Given the description of an element on the screen output the (x, y) to click on. 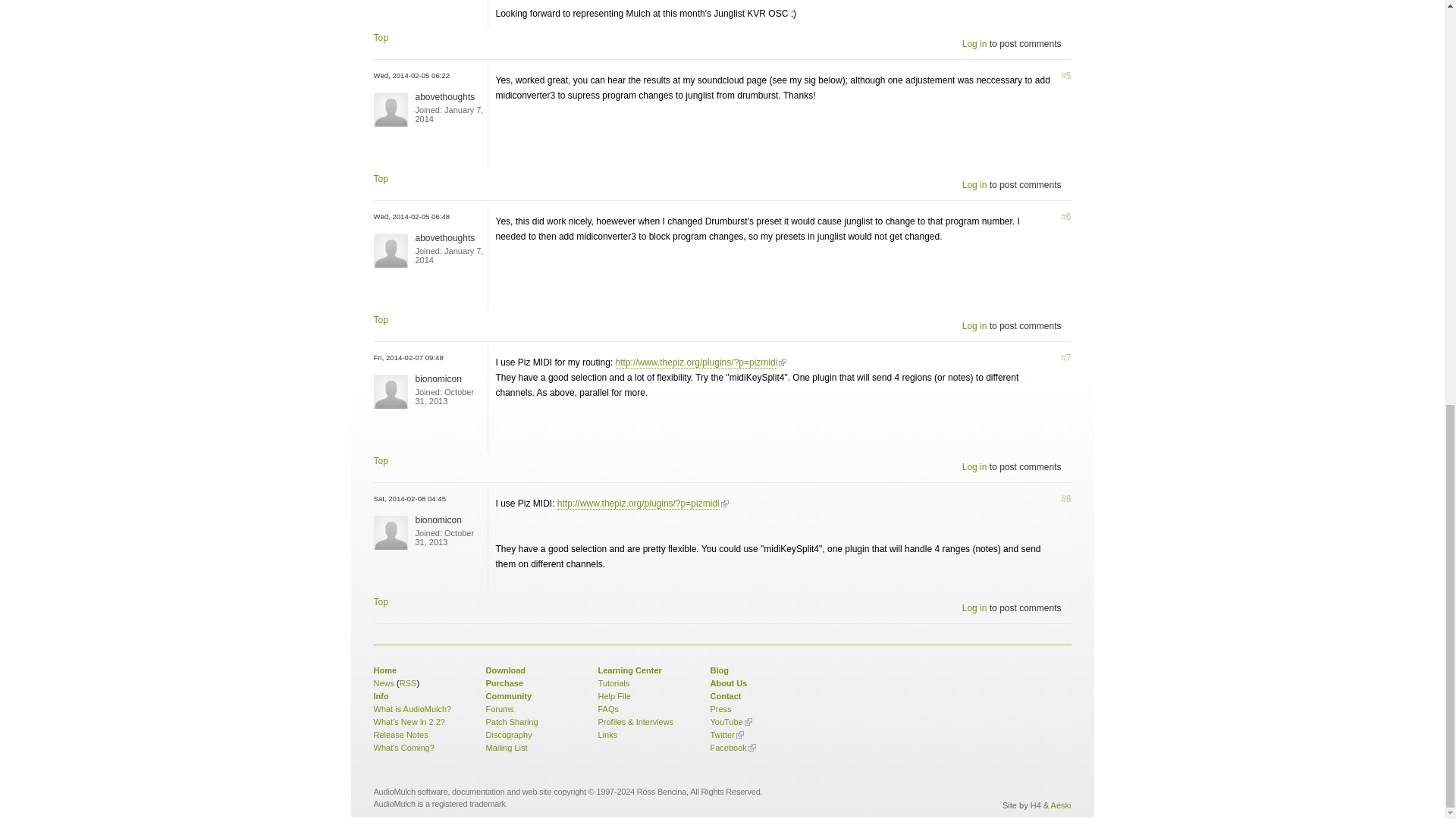
abovethoughts's picture (389, 109)
Jump to top of page (379, 37)
Jump to top of page (379, 178)
